Given the description of an element on the screen output the (x, y) to click on. 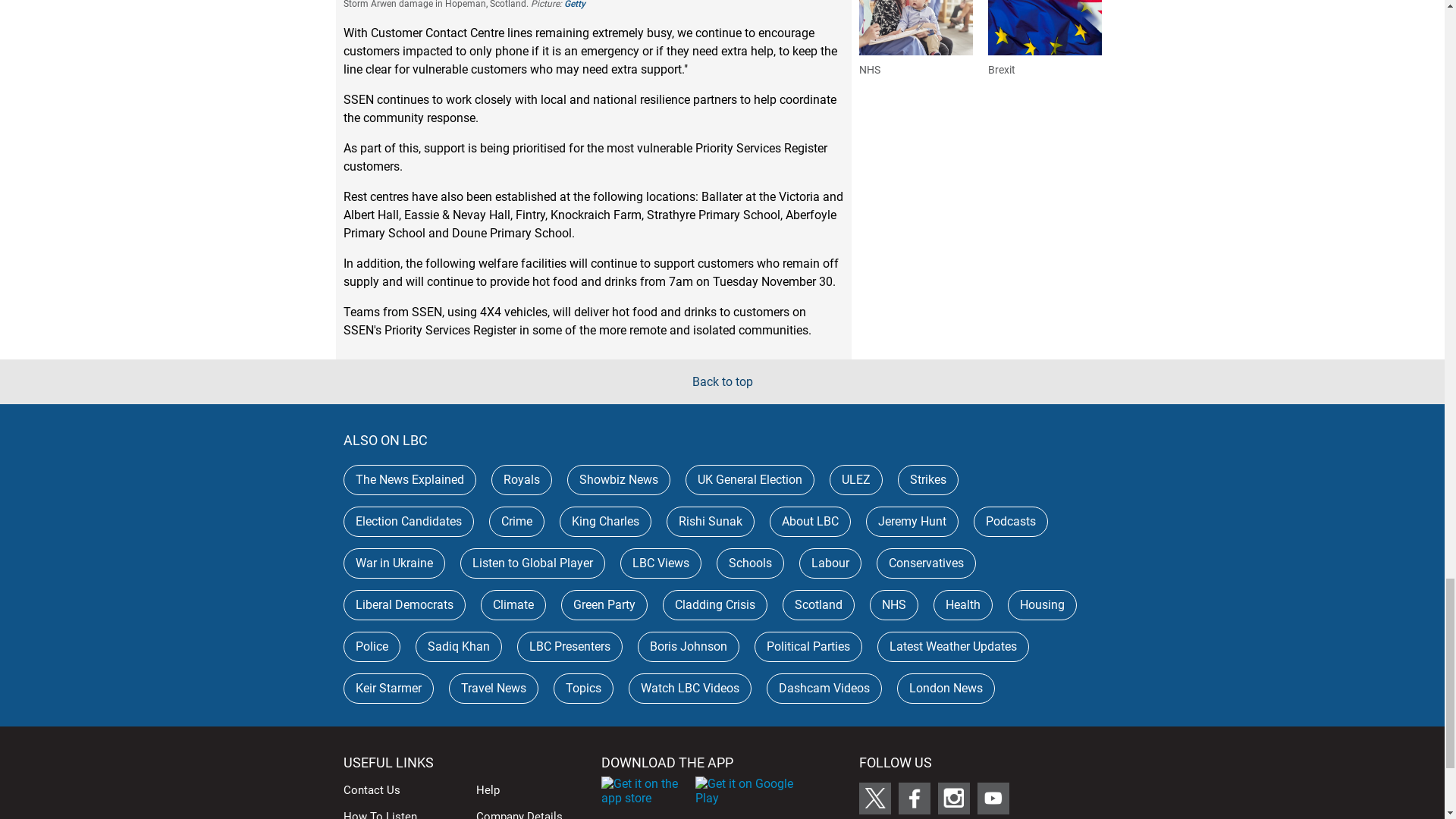
Follow LBC on X (874, 798)
Follow LBC on Instagram (953, 798)
Follow LBC on Youtube (992, 798)
Follow LBC on Facebook (914, 798)
Back to top (721, 381)
